Given the description of an element on the screen output the (x, y) to click on. 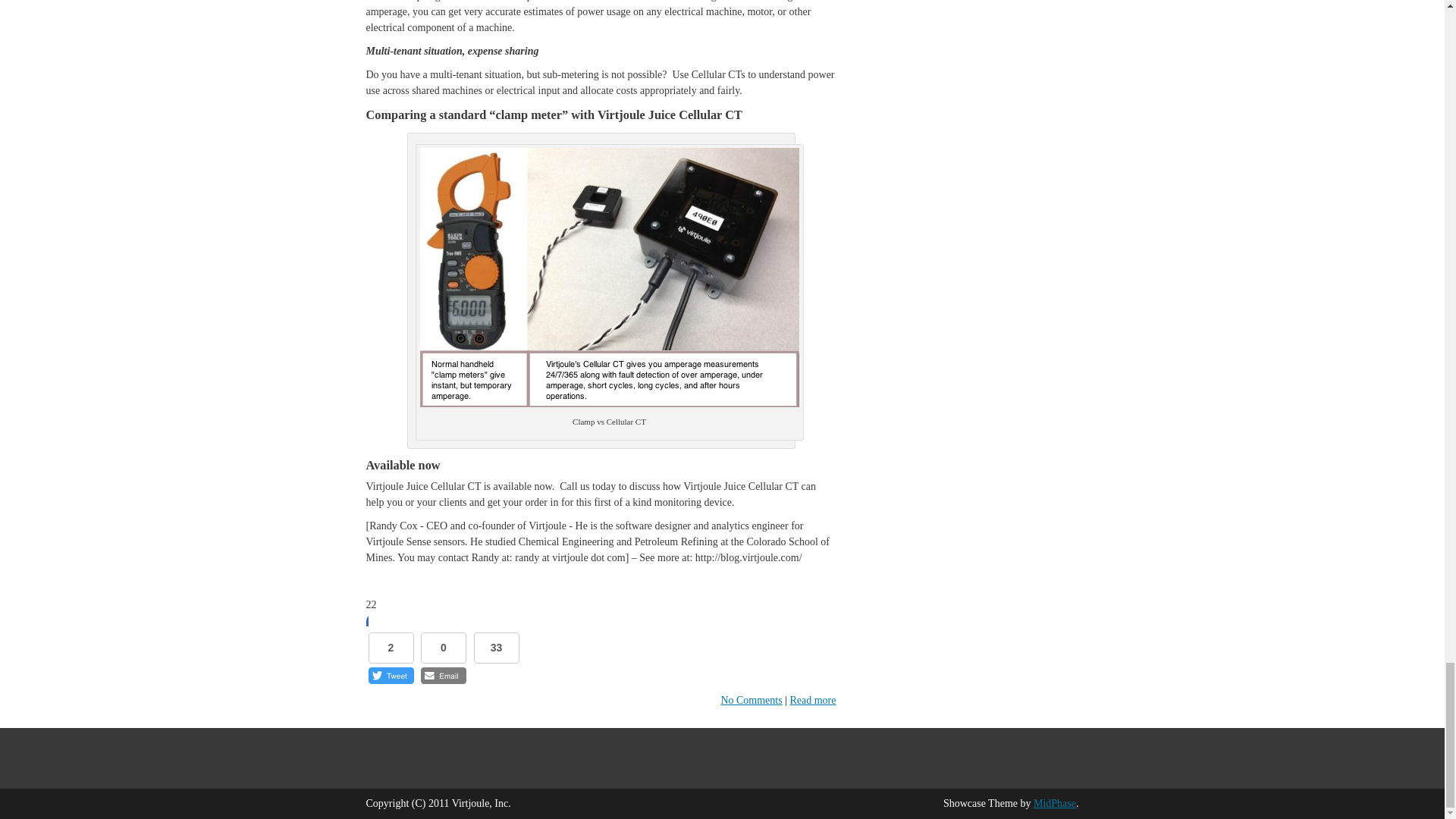
Clamp Meter vs Cellular CT (609, 277)
Read more (812, 699)
No Comments (750, 699)
